Given the description of an element on the screen output the (x, y) to click on. 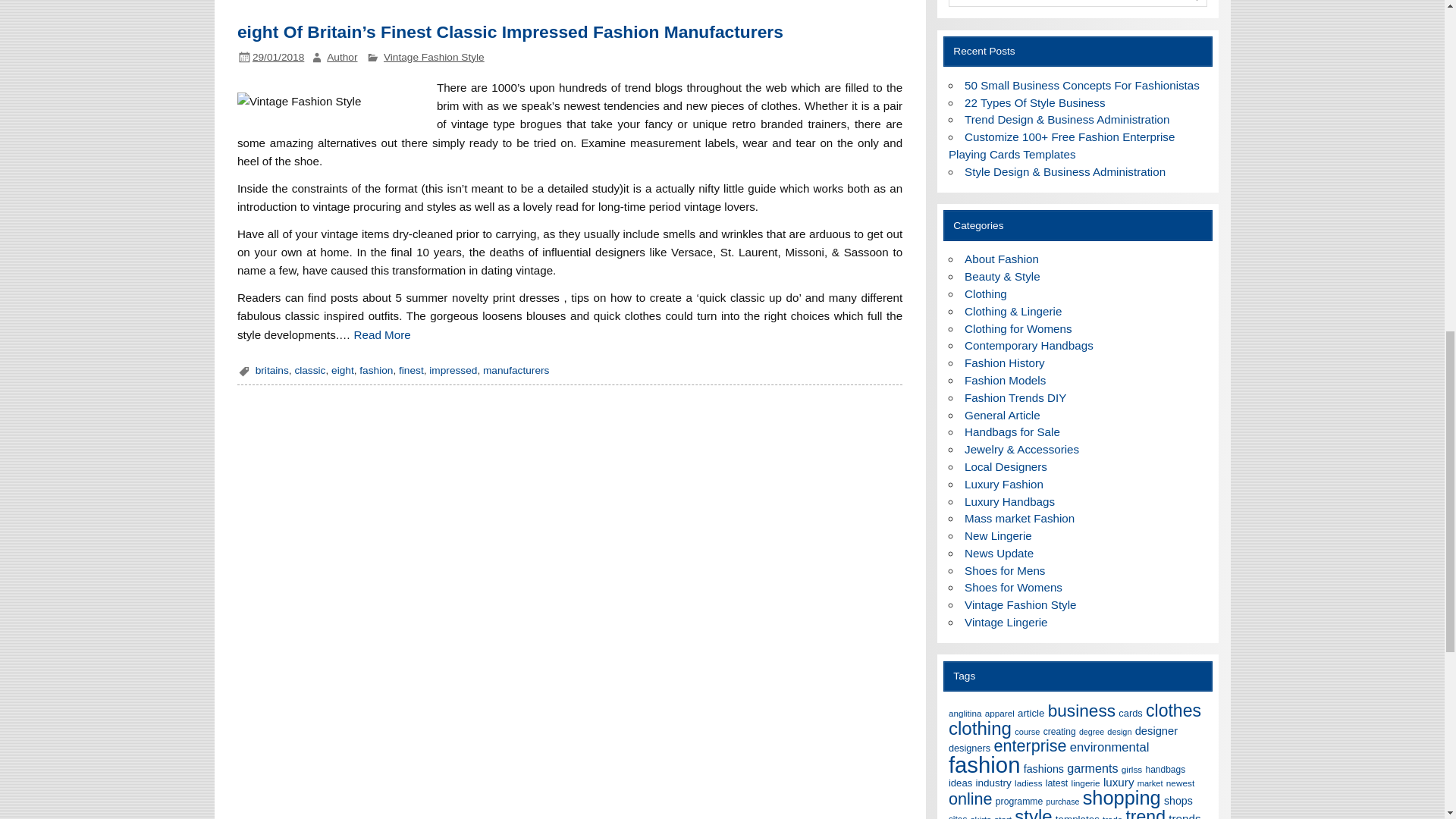
eight (342, 369)
Read More (381, 333)
Vintage Fashion Style (434, 57)
britains (272, 369)
impressed (453, 369)
Author (341, 57)
fashion (376, 369)
View all posts by Author (341, 57)
08:23 (277, 57)
manufacturers (515, 369)
